Given the description of an element on the screen output the (x, y) to click on. 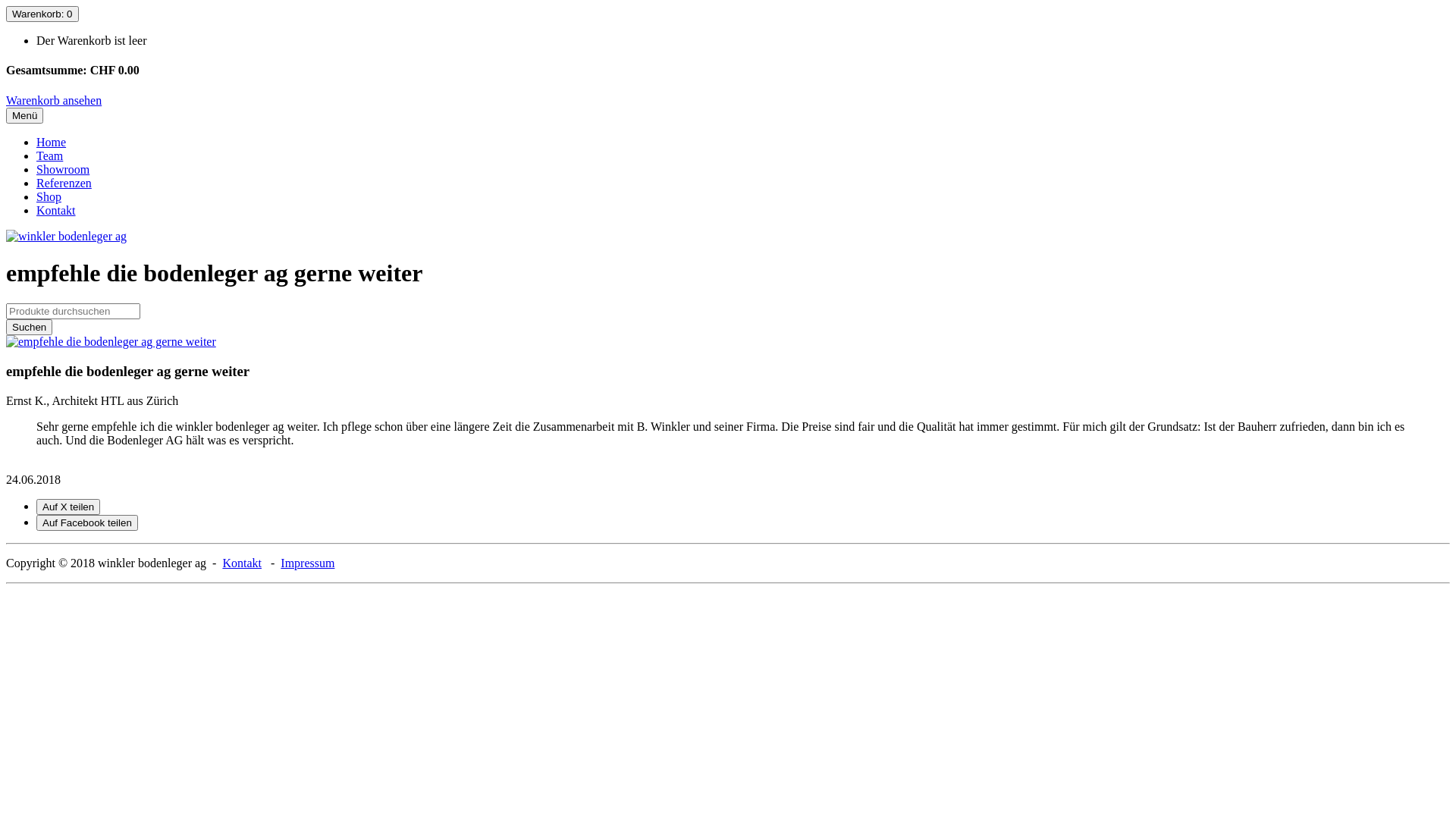
empfehle die bodenleger ag gerne weiter Element type: hover (111, 341)
Kontakt Element type: text (55, 209)
Warenkorb ansehen Element type: text (53, 100)
Referenzen Element type: text (63, 182)
Team Element type: text (49, 155)
Shop Element type: text (48, 196)
Kontakt Element type: text (241, 562)
Auf X teilen Element type: text (68, 506)
Suchen Element type: text (29, 327)
Impressum Element type: text (307, 562)
Home Element type: text (50, 141)
Warenkorb: 0 Element type: text (42, 13)
winkler bodenleger ag Element type: hover (66, 236)
Auf Facebook teilen Element type: text (87, 522)
Showroom Element type: text (62, 169)
